Given the description of an element on the screen output the (x, y) to click on. 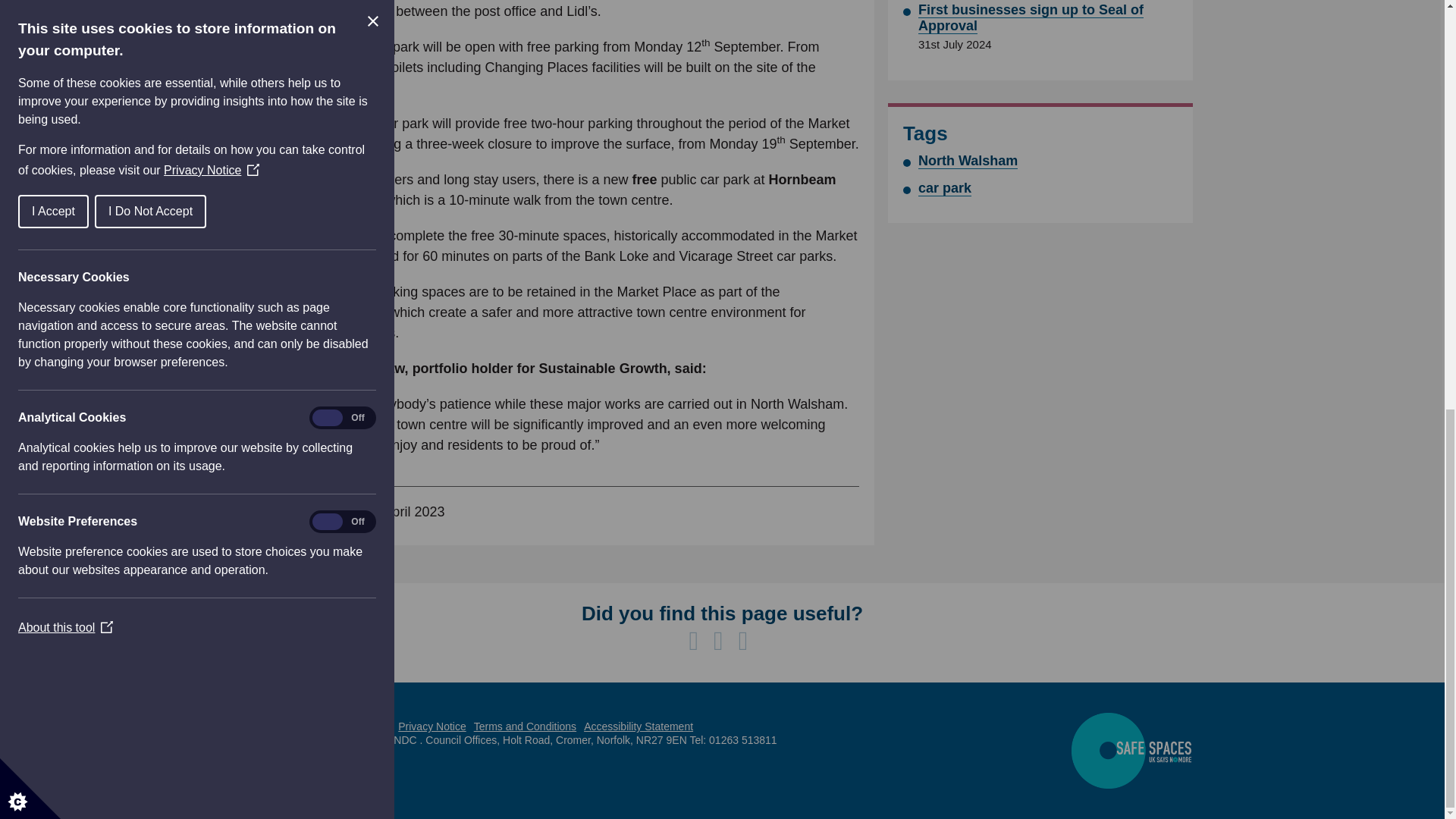
GlobalSign Site Seal (293, 733)
North Walsham (967, 160)
car park (944, 187)
Terms and Conditions (525, 726)
Site Map (369, 726)
First businesses sign up to Seal of Approval (1030, 18)
Privacy Notice (431, 726)
Did you find this page useful? (721, 612)
